Given the description of an element on the screen output the (x, y) to click on. 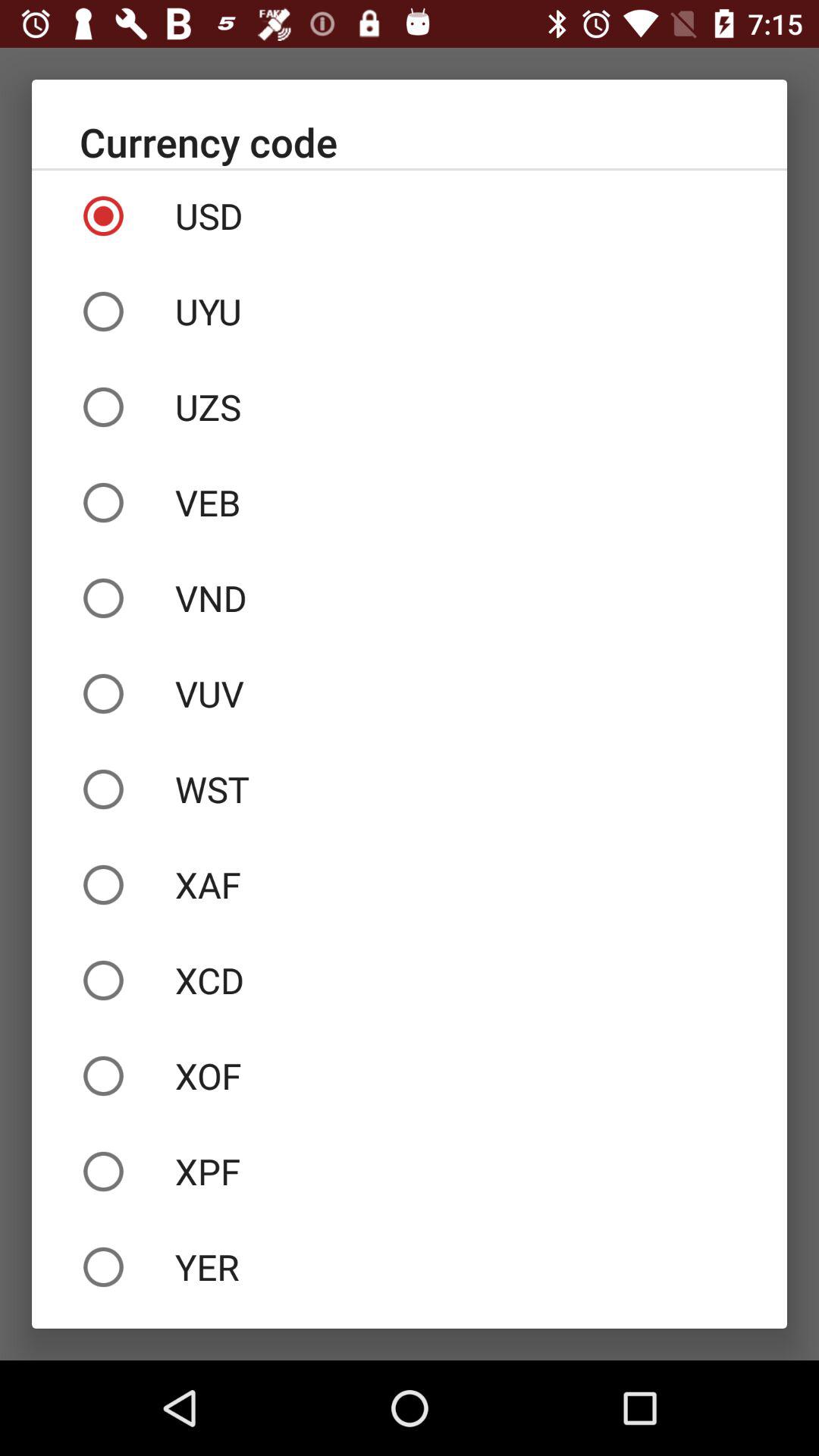
scroll until yer icon (409, 1266)
